Given the description of an element on the screen output the (x, y) to click on. 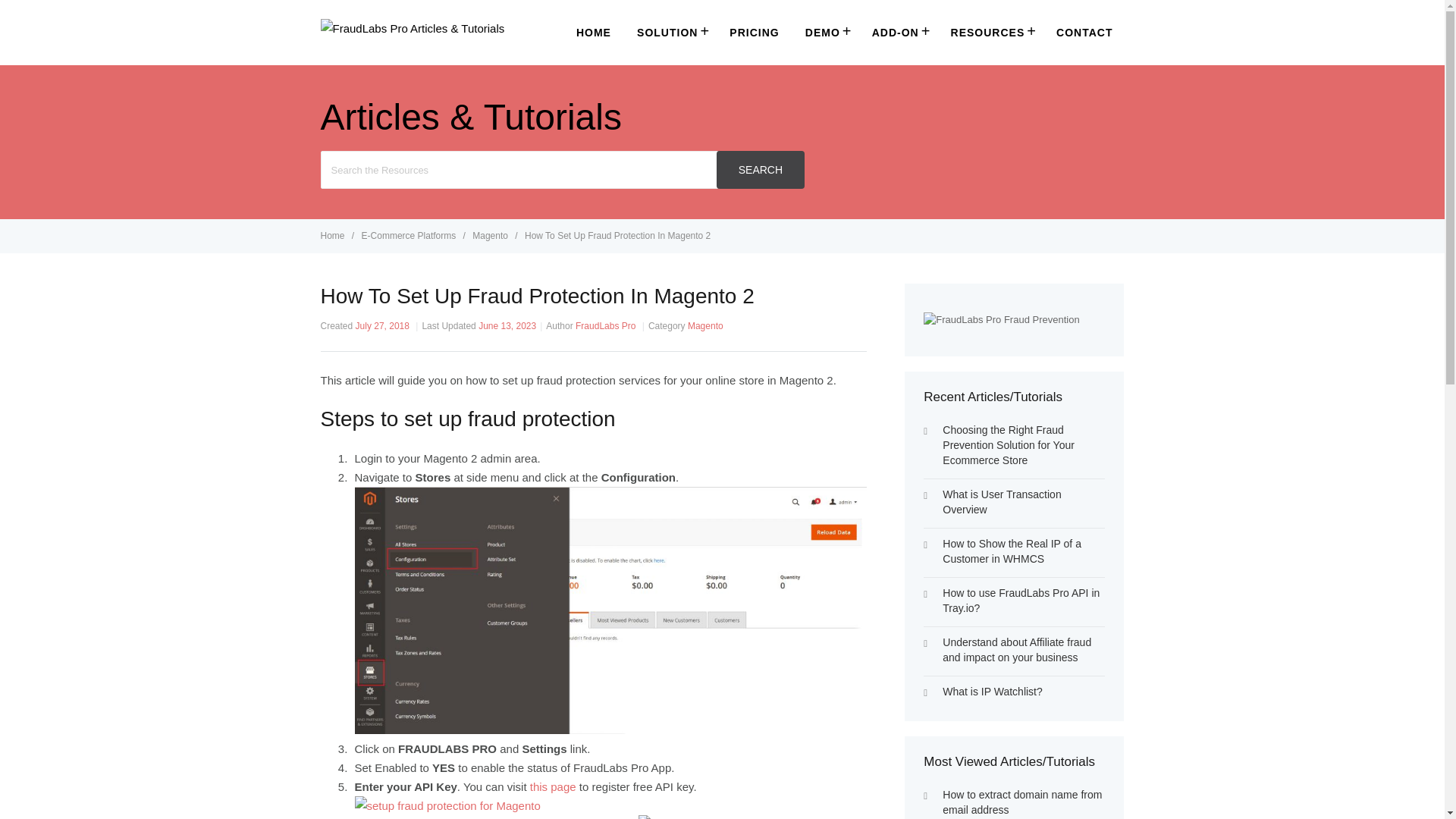
CONTACT (1084, 32)
FraudLabs Pro (604, 326)
RESOURCES (990, 31)
June 13, 2023 (507, 326)
SOLUTION (670, 31)
HOME (593, 32)
SEARCH (759, 169)
Home (333, 235)
this page (552, 786)
Magento (491, 235)
